Given the description of an element on the screen output the (x, y) to click on. 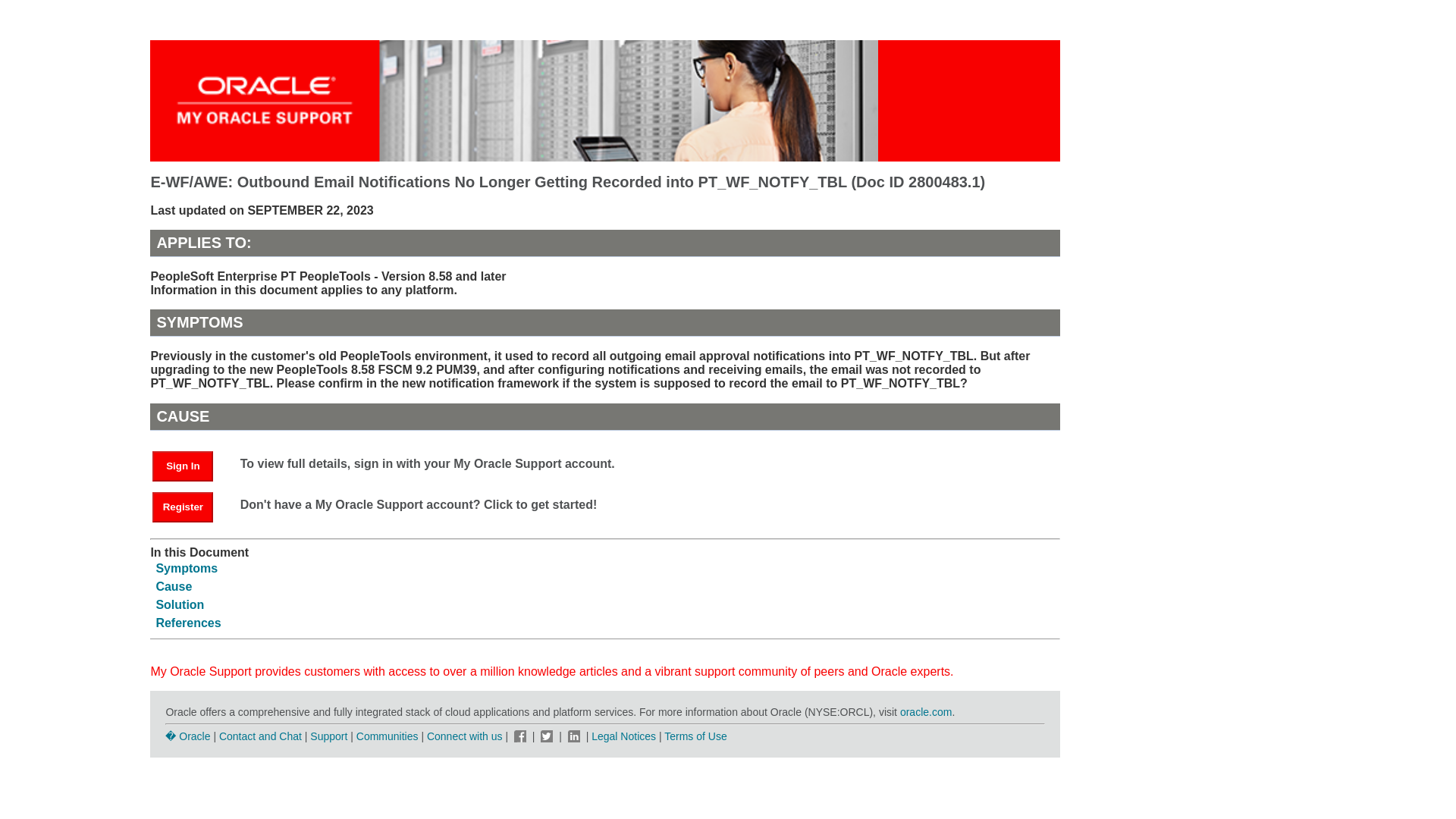
oracle.com (925, 711)
Symptoms (185, 567)
Legal Notices (623, 736)
Contact and Chat (260, 736)
References (188, 622)
Cause (173, 585)
Terms of Use (694, 736)
Support (328, 736)
Sign In (182, 466)
Solution (179, 604)
